Given the description of an element on the screen output the (x, y) to click on. 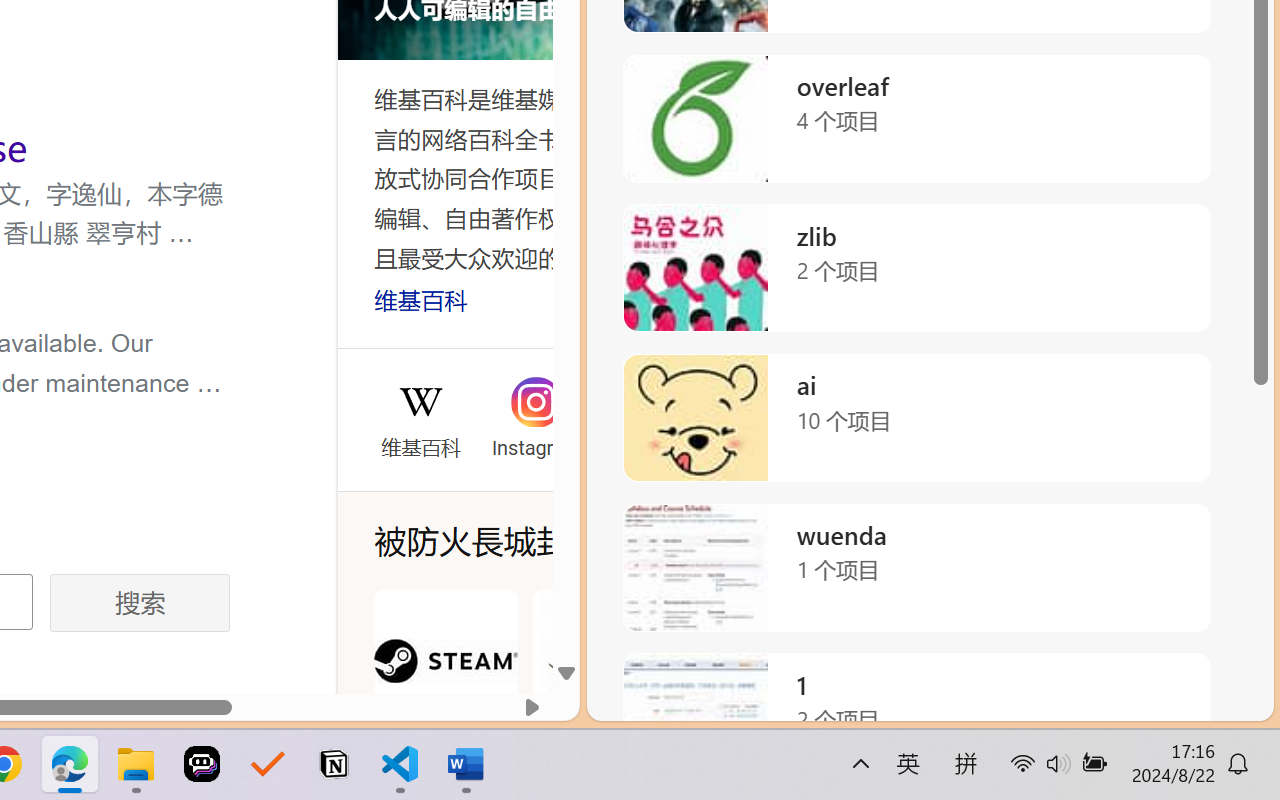
Instagram (534, 444)
Steam (445, 684)
AutomationID: mfa_root (429, 564)
Wikipedia (419, 402)
Steam (445, 684)
